Given the description of an element on the screen output the (x, y) to click on. 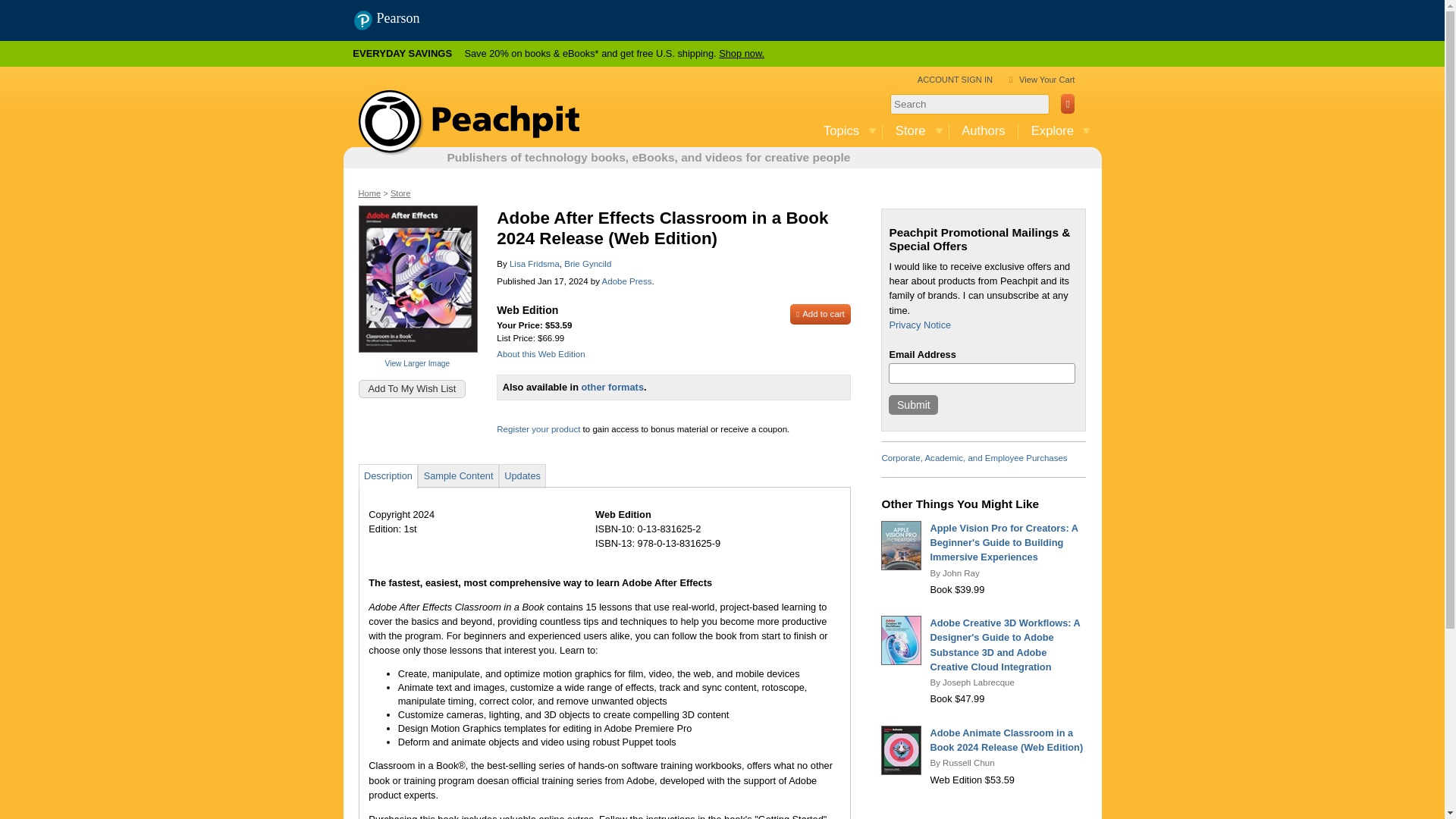
John Ray (960, 573)
Add To My Wish List (411, 388)
ACCOUNT SIGN IN (954, 79)
Adobe Press (627, 280)
other formats (611, 387)
Corporate, Academic, and Employee Purchases (973, 457)
Brie Gyncild (587, 263)
Description (388, 475)
